Given the description of an element on the screen output the (x, y) to click on. 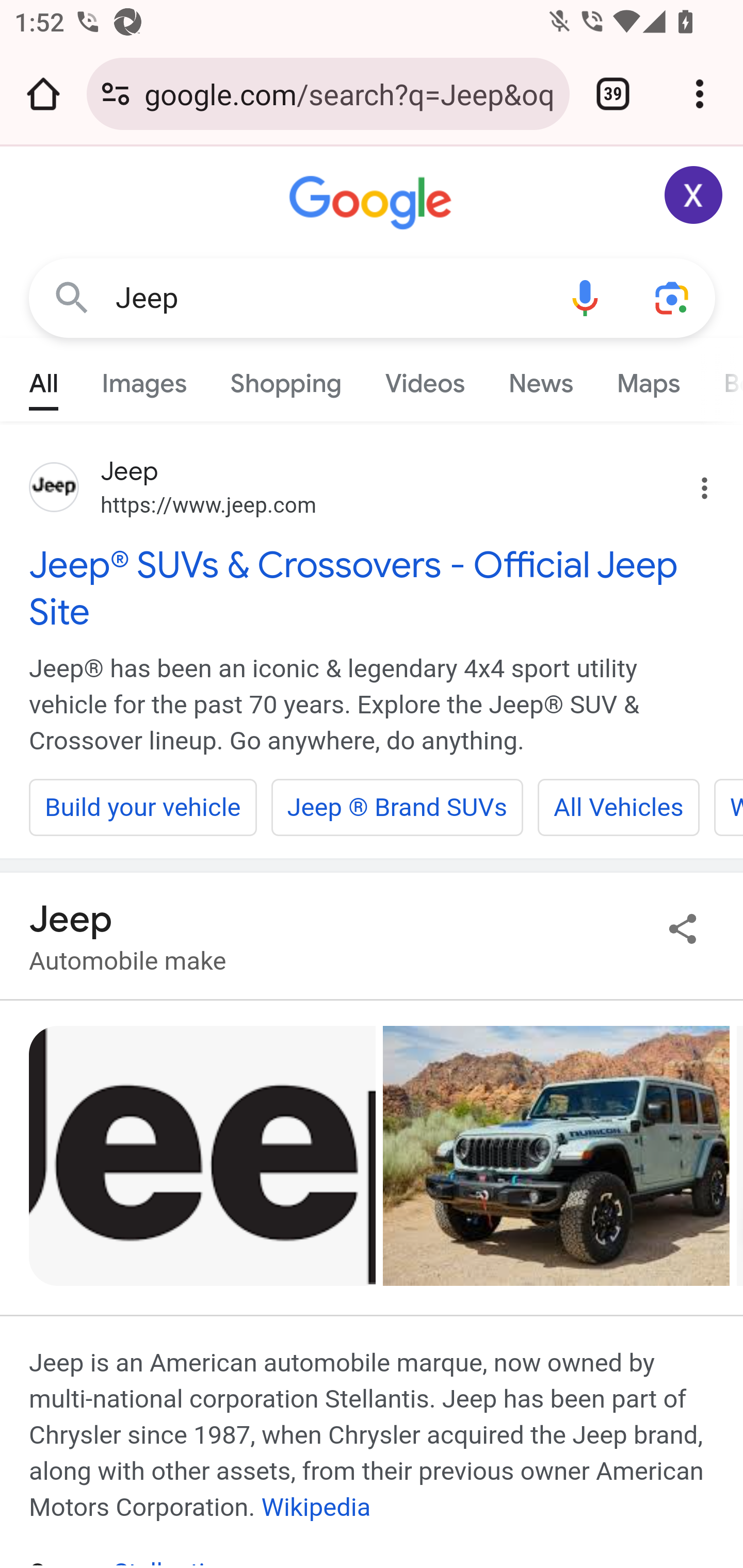
Open the home page (43, 93)
Connection is secure (115, 93)
Switch or close tabs (612, 93)
Customize and control Google Chrome (699, 93)
Google (372, 203)
Google Account: Xiaoran (zxrappiumtest@gmail.com) (694, 195)
Google Search (71, 296)
Search using your camera or photos (672, 296)
Jeep (328, 297)
Images (144, 378)
Shopping (285, 378)
Videos (424, 378)
News (540, 378)
Maps (647, 378)
Jeep® SUVs & Crossovers - Official Jeep Site (372, 587)
Build your vehicle (142, 807)
Jeep ® Brand SUVs (397, 807)
All Vehicles (618, 807)
Share (683, 928)
Wikipedia (316, 1507)
